Given the description of an element on the screen output the (x, y) to click on. 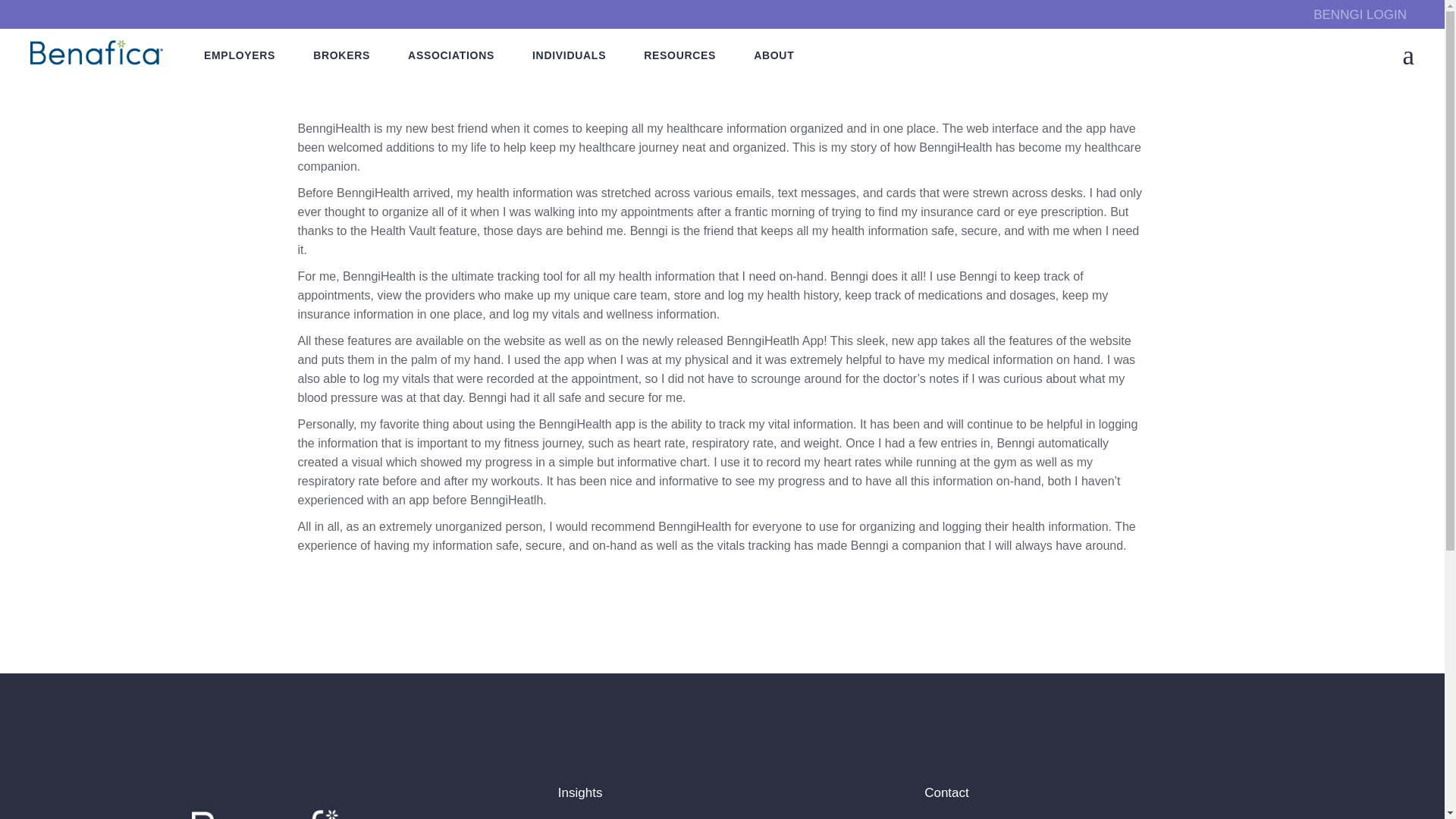
ASSOCIATIONS (451, 54)
RESOURCES (679, 54)
EMPLOYERS (239, 54)
INDIVIDUALS (568, 54)
BENNGI LOGIN (1359, 14)
BROKERS (341, 54)
